Given the description of an element on the screen output the (x, y) to click on. 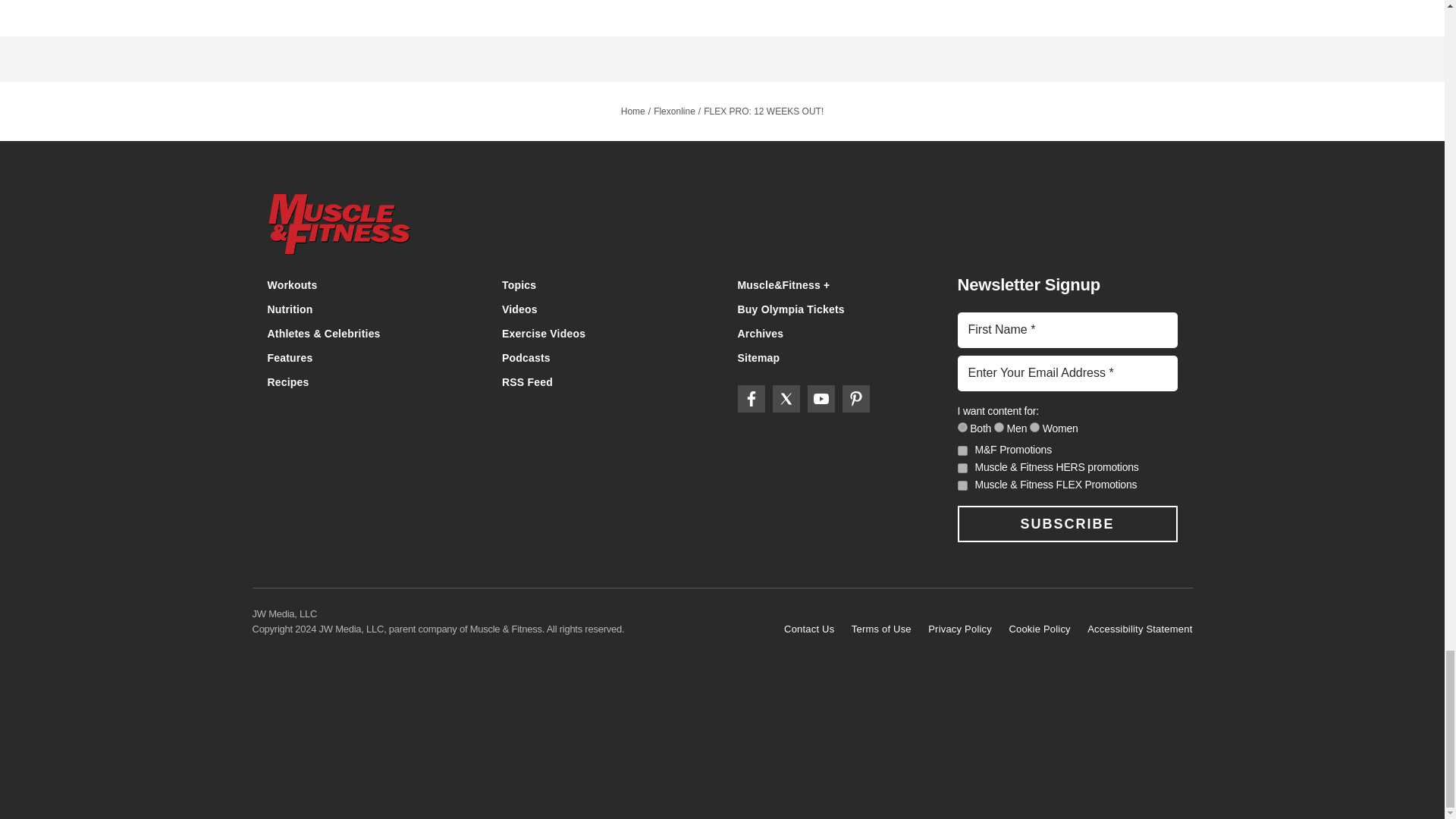
711 (961, 427)
713 (999, 427)
715 (1034, 427)
